Given the description of an element on the screen output the (x, y) to click on. 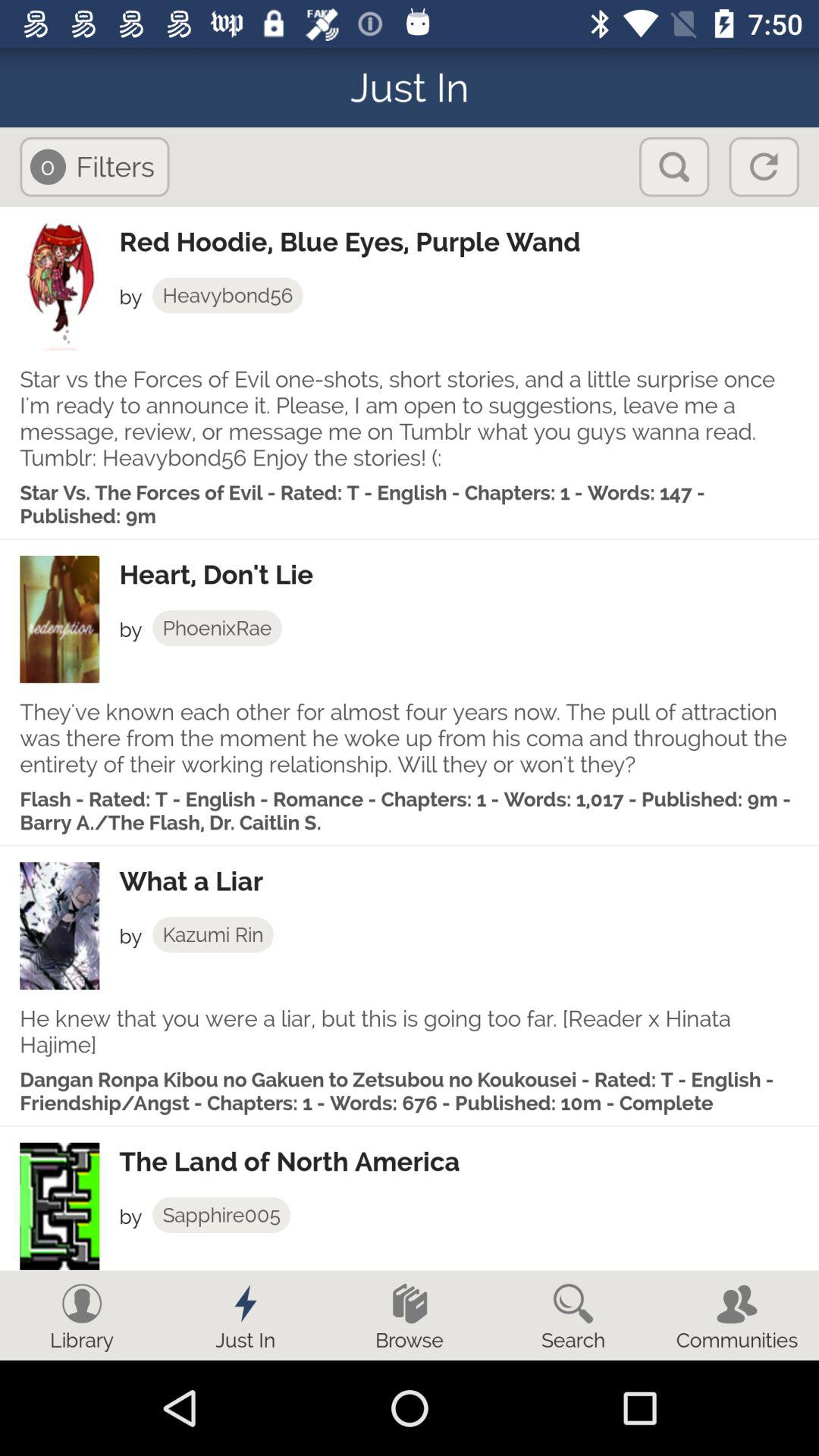
open item next to the by (212, 934)
